Given the description of an element on the screen output the (x, y) to click on. 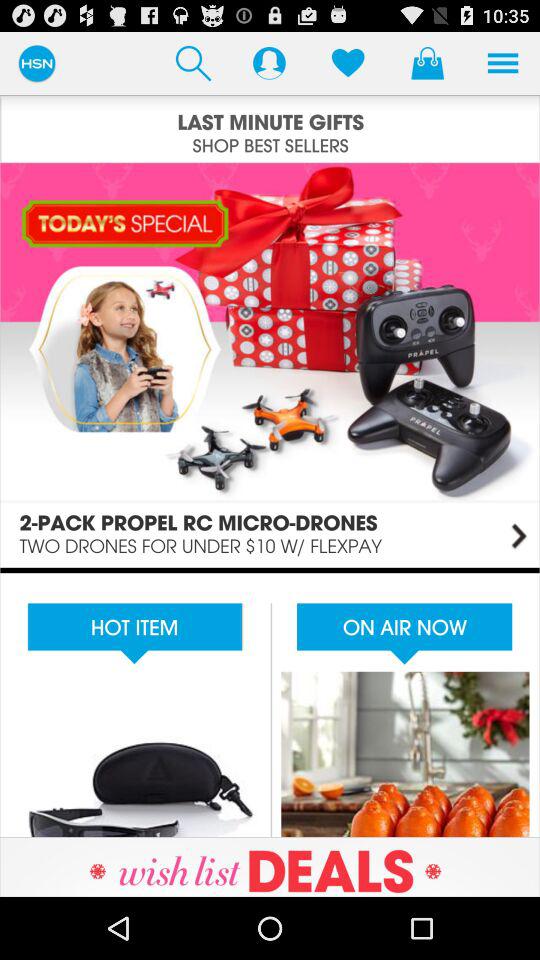
go to deals (269, 866)
